Given the description of an element on the screen output the (x, y) to click on. 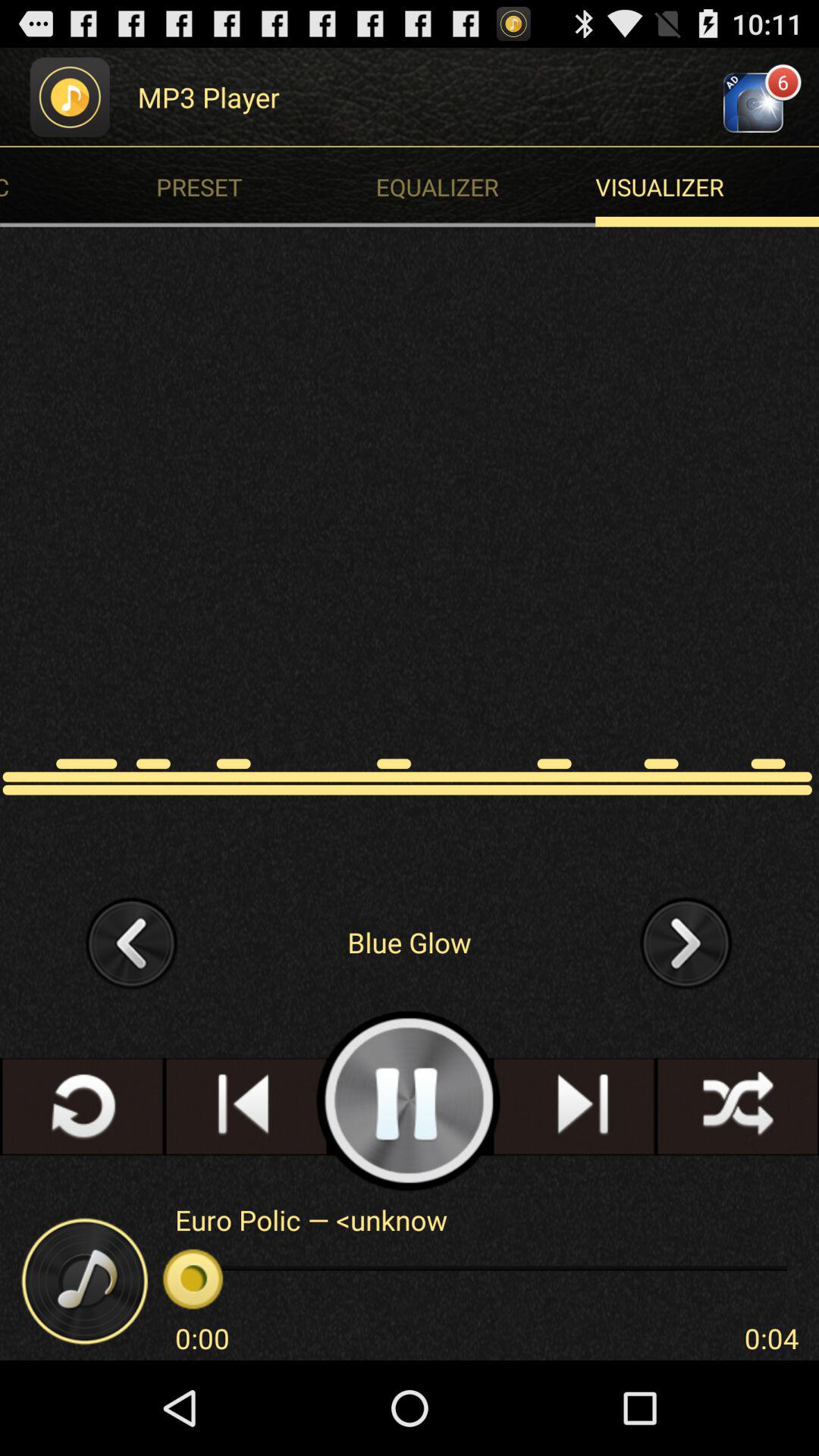
launch the icon on the left (131, 941)
